Given the description of an element on the screen output the (x, y) to click on. 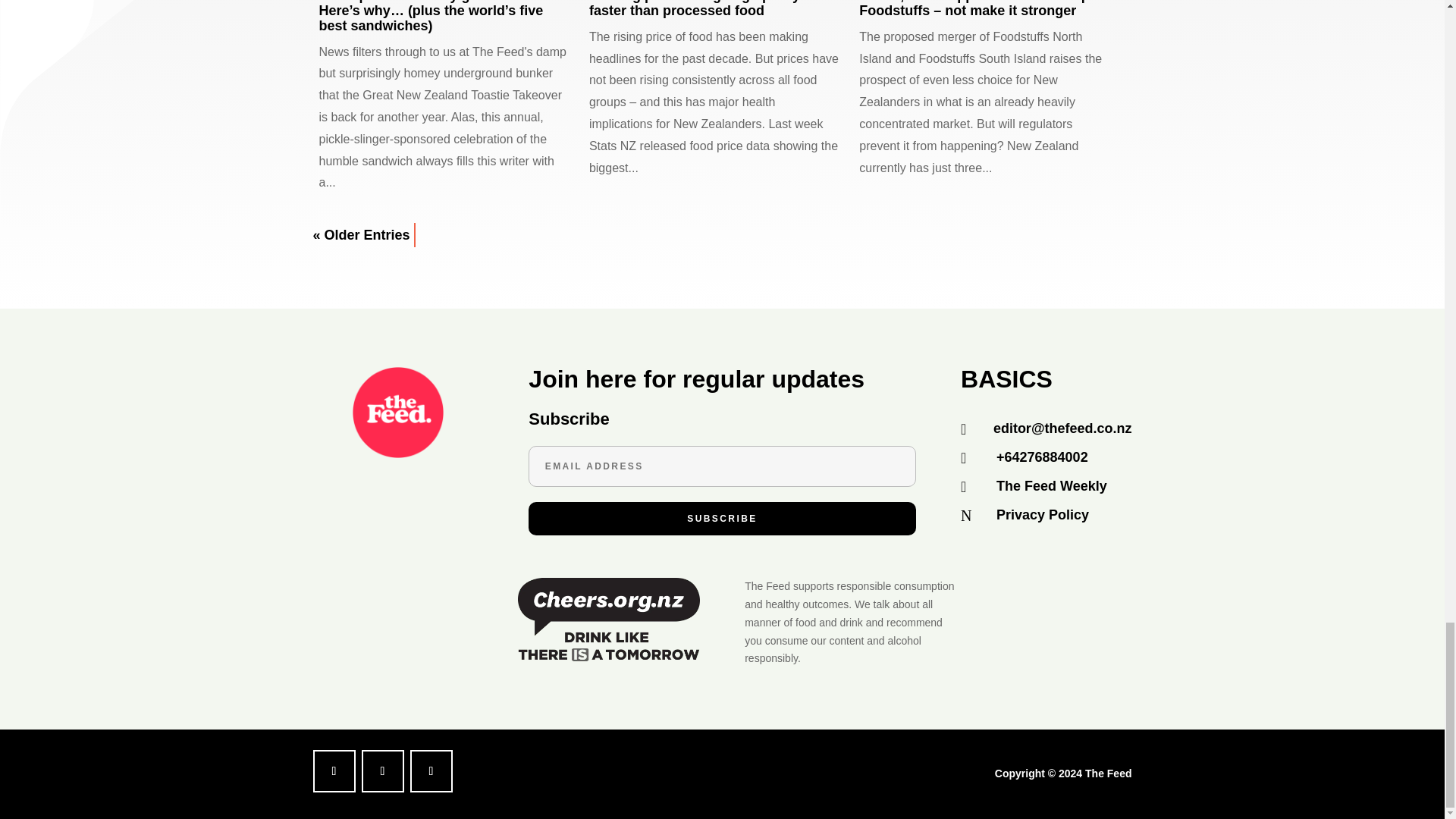
The Feed Weekly (1050, 485)
Follow on Twitter (382, 771)
Subscribe (721, 518)
N (972, 515)
Follow on Instagram (430, 771)
Privacy Policy (1042, 514)
Subscribe (721, 518)
Follow on Facebook (334, 771)
Cheers-logo-TMR-URL-Tagline-mono (609, 621)
